Given the description of an element on the screen output the (x, y) to click on. 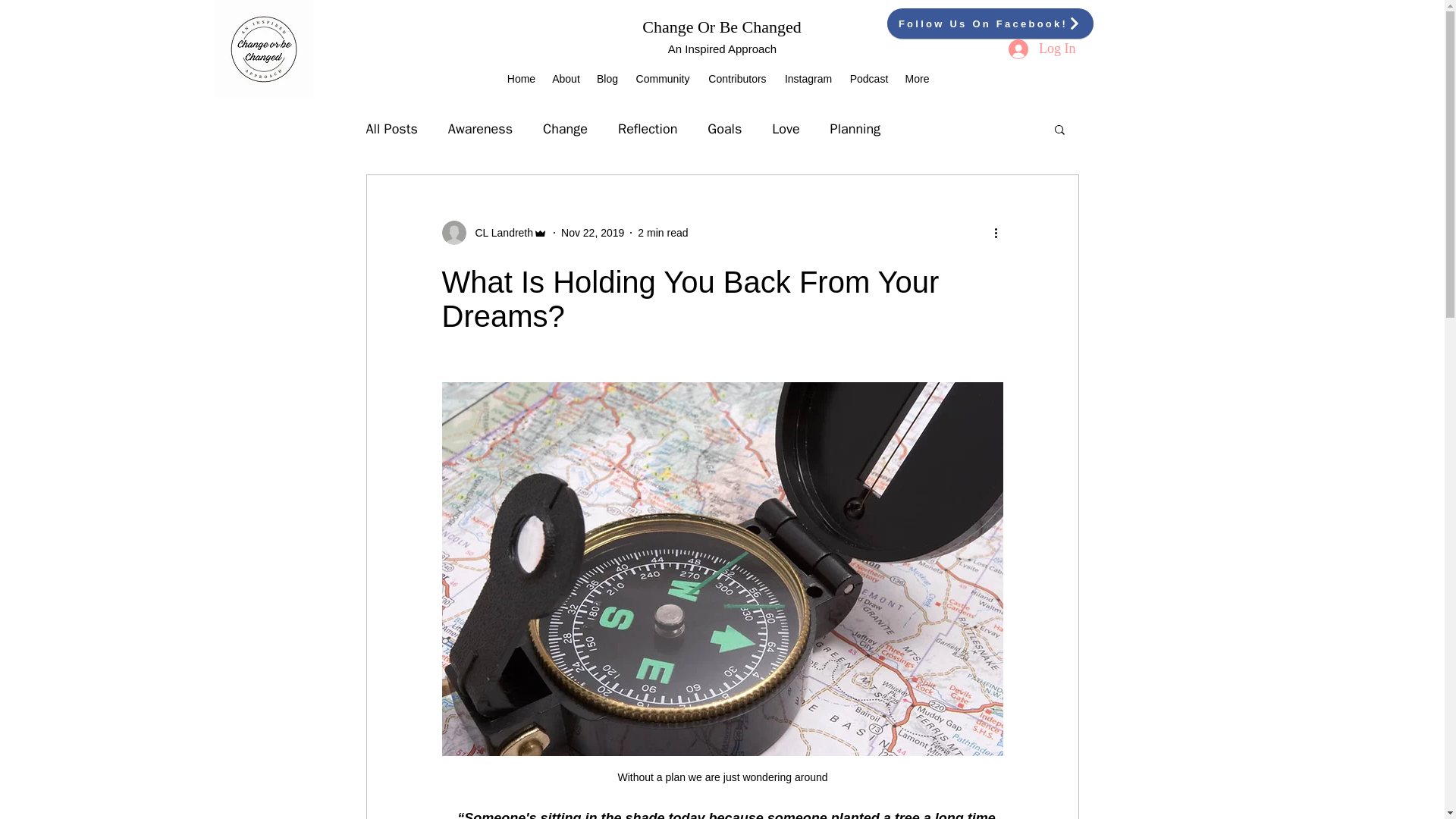
All Posts (390, 128)
Blog (607, 78)
Contributors (737, 78)
Love (785, 128)
CL Landreth (498, 232)
Change Or Be Changed (722, 26)
Nov 22, 2019 (592, 232)
Home (521, 78)
Podcast (868, 78)
Awareness (480, 128)
